Given the description of an element on the screen output the (x, y) to click on. 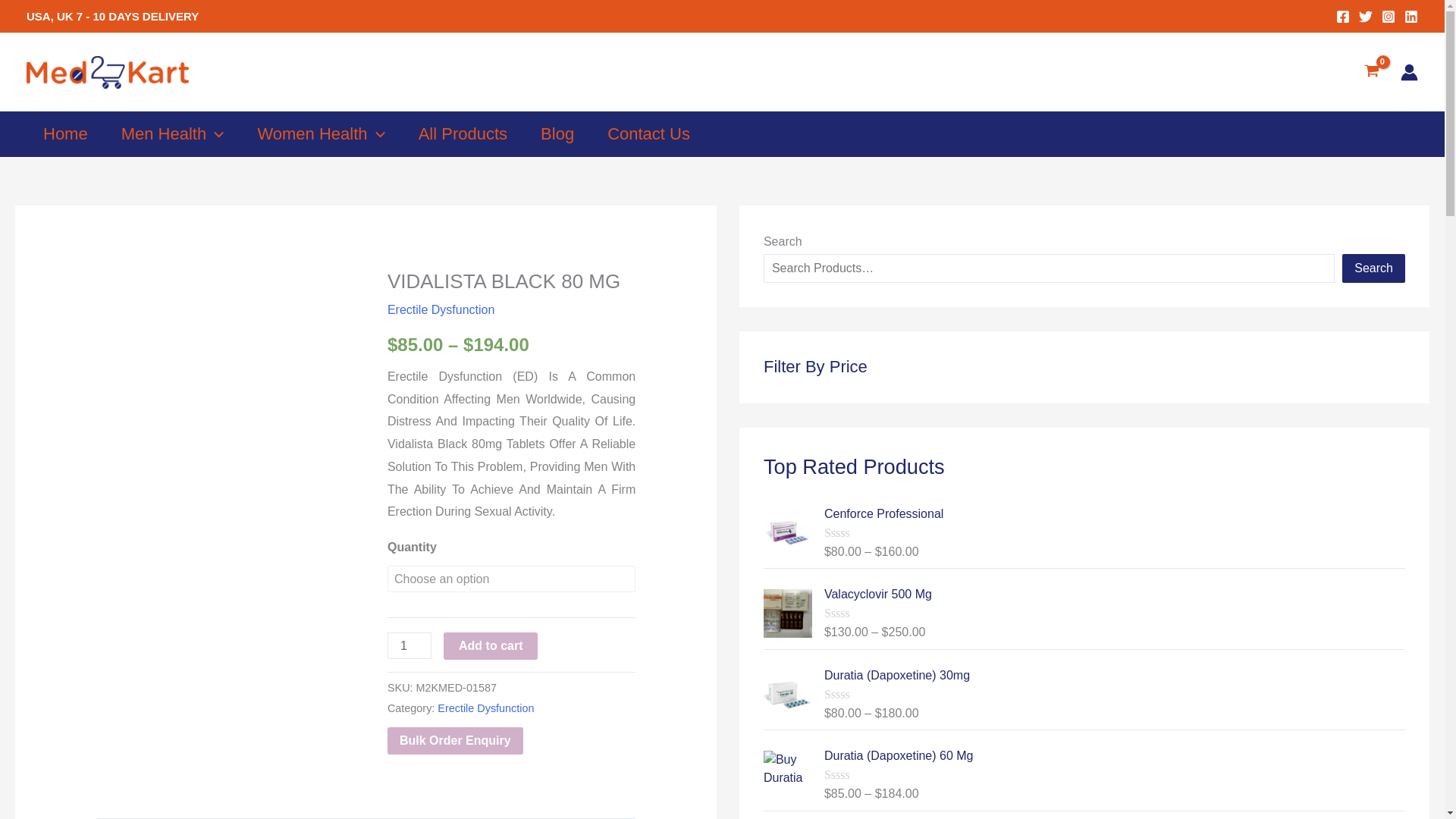
All Products (462, 134)
Add to cart (490, 646)
Men Health (172, 134)
Description (129, 818)
1 (408, 645)
Contact Us (648, 134)
Erectile Dysfunction (441, 309)
Bulk Order Enquiry (454, 740)
Erectile Dysfunction (486, 707)
Home (65, 134)
Blog (557, 134)
Women Health (320, 134)
